Given the description of an element on the screen output the (x, y) to click on. 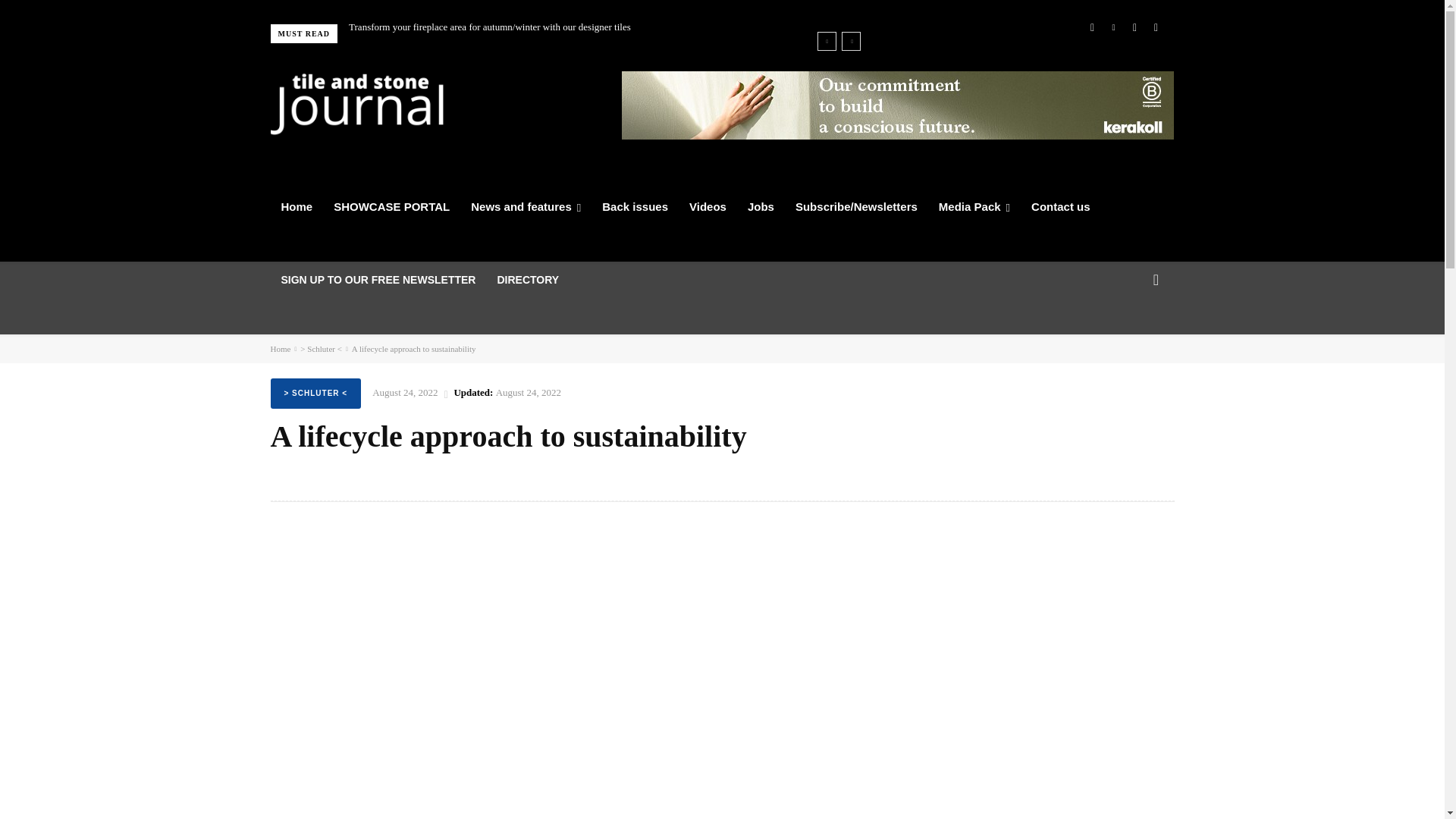
Facebook (1091, 26)
SHOWCASE PORTAL (391, 207)
Home (296, 207)
News and features (525, 207)
Linkedin (1113, 26)
Twitter (1134, 26)
